Given the description of an element on the screen output the (x, y) to click on. 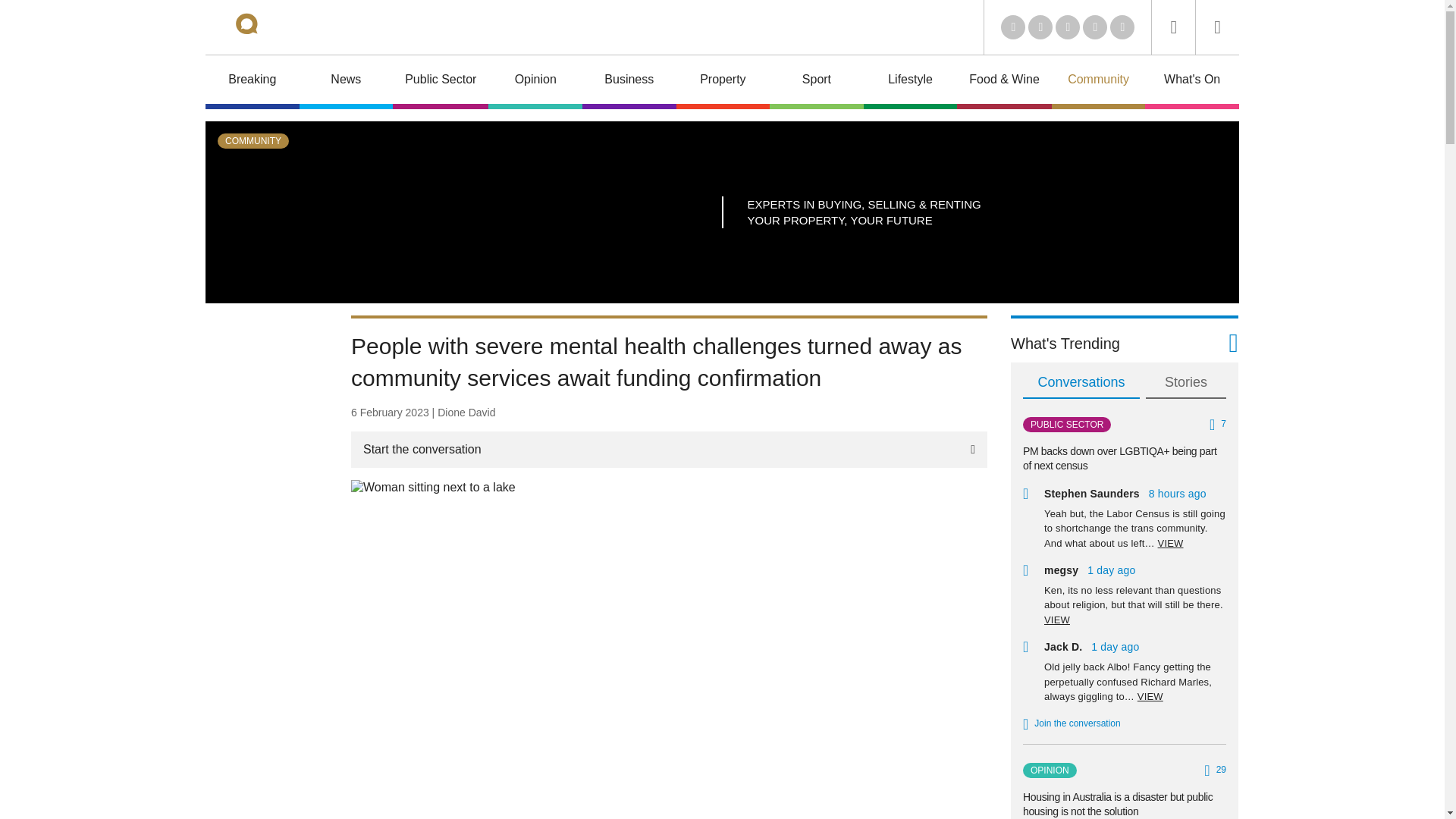
Facebook (1094, 27)
LinkedIn (1013, 27)
News (346, 81)
Youtube (1067, 27)
Riotact Home (267, 26)
Breaking (252, 81)
Twitter (1039, 27)
Instagram (1121, 27)
